Given the description of an element on the screen output the (x, y) to click on. 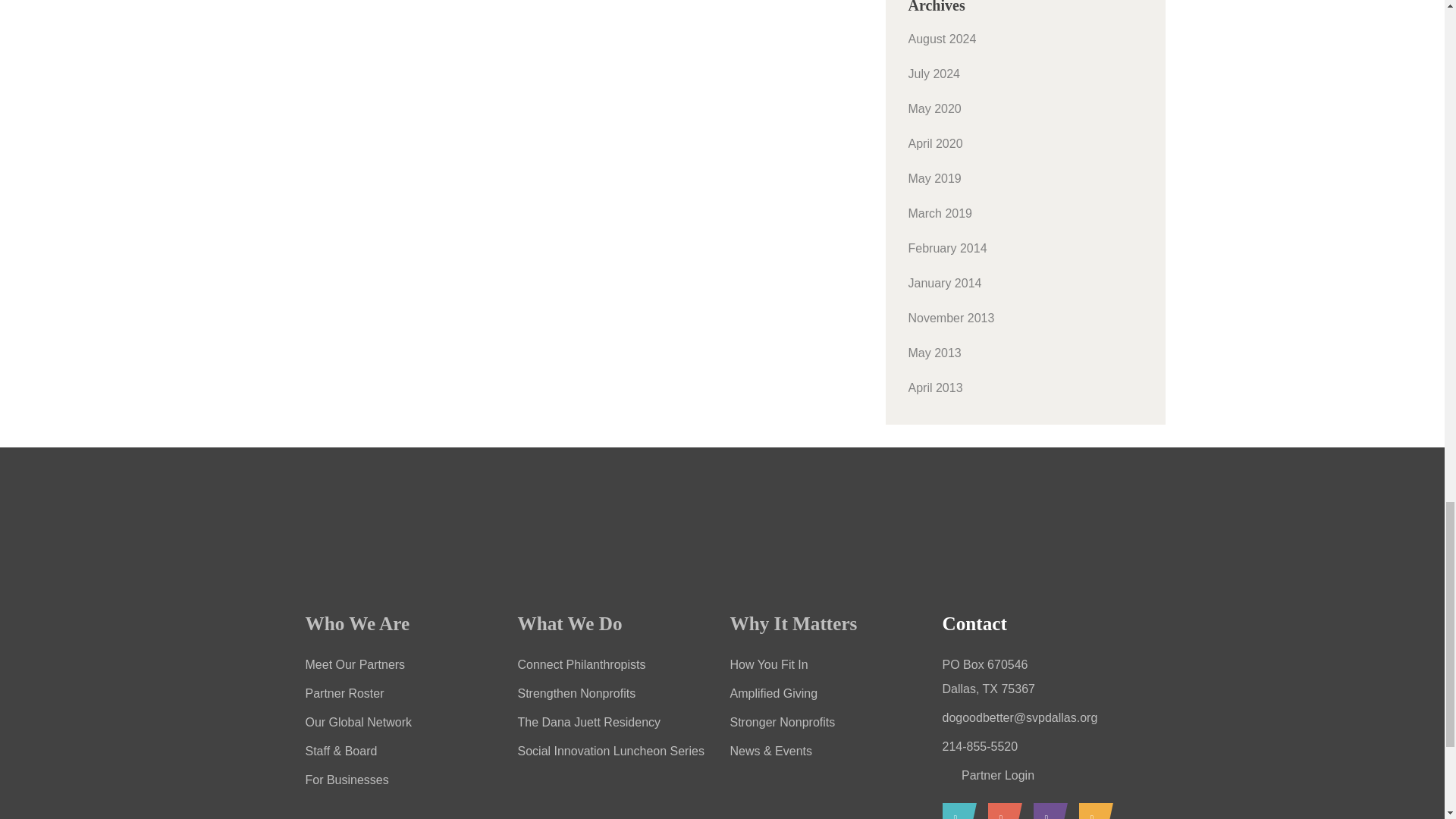
Facebook (955, 811)
Twitter (1091, 811)
LinkedIn (1000, 811)
Instagram (1045, 811)
